Given the description of an element on the screen output the (x, y) to click on. 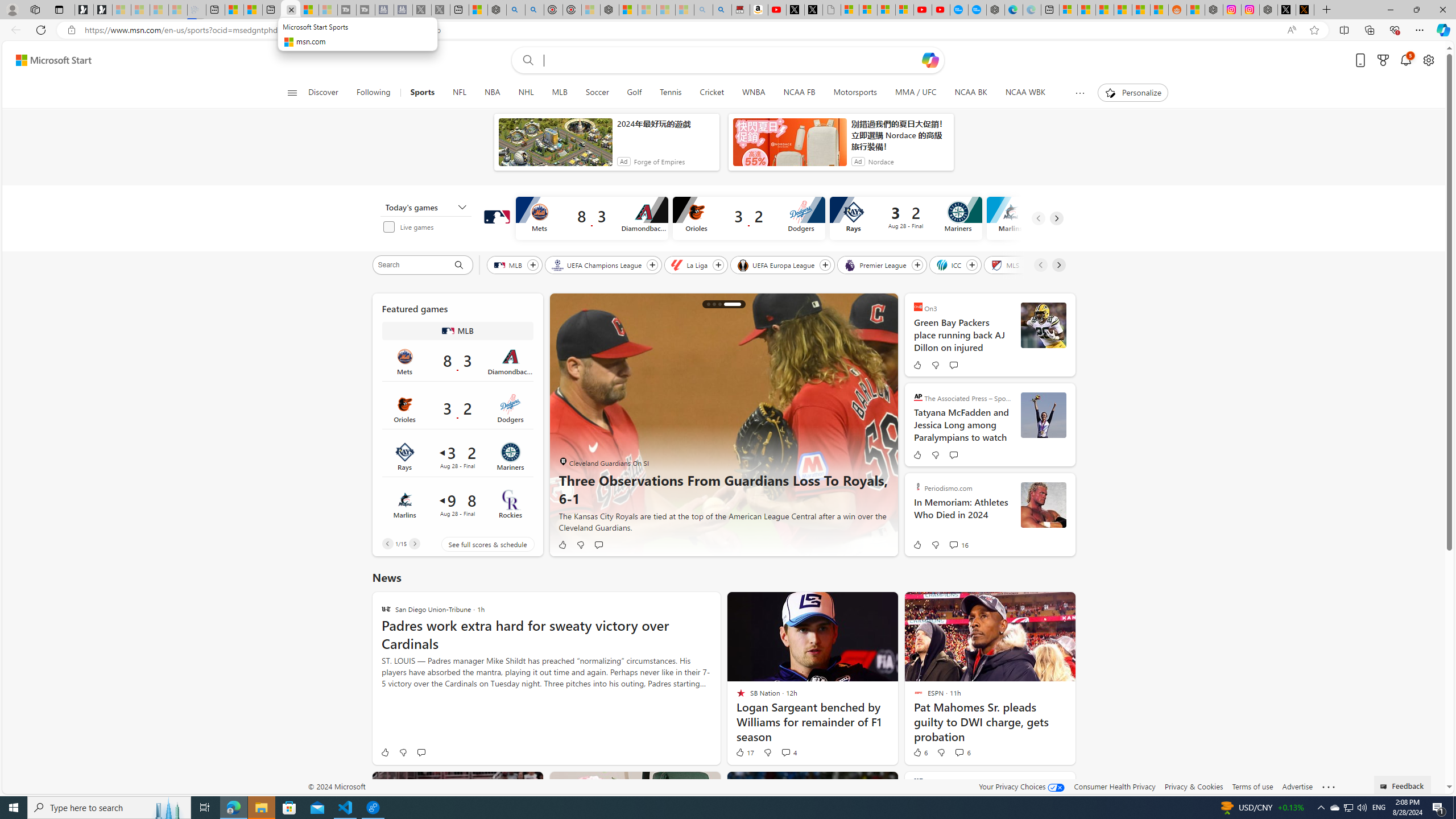
MLB (559, 92)
Consumer Health Privacy (1115, 785)
Consumer Health Privacy (1115, 786)
NCAA WBK (1024, 92)
Web search (526, 60)
Open navigation menu (292, 92)
Rays 3 vs Mariners 2Final Date Aug 28 (456, 456)
View comments 4 Comment (785, 751)
Like (384, 752)
